Given the description of an element on the screen output the (x, y) to click on. 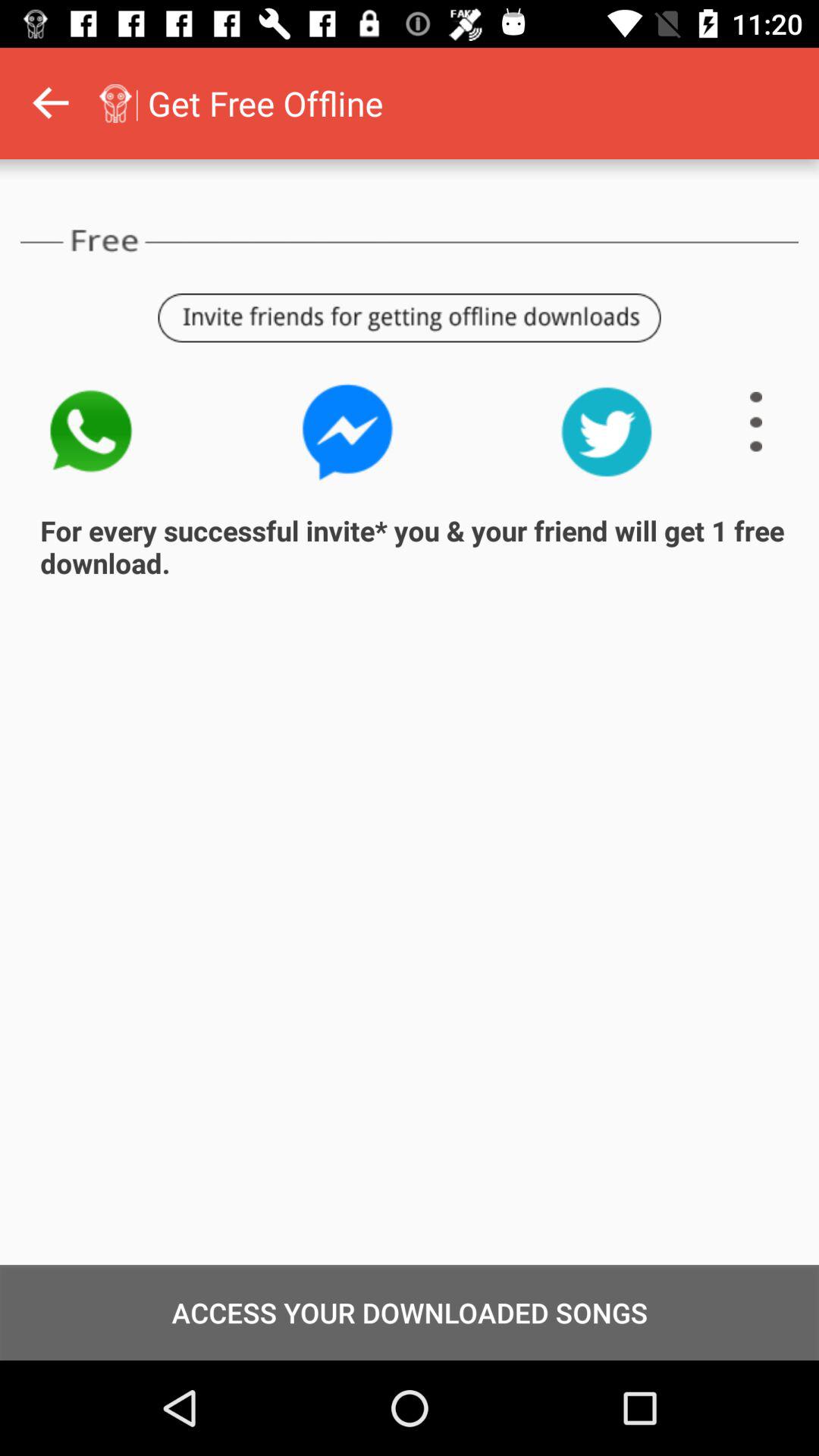
go to watsapp (89, 431)
